Given the description of an element on the screen output the (x, y) to click on. 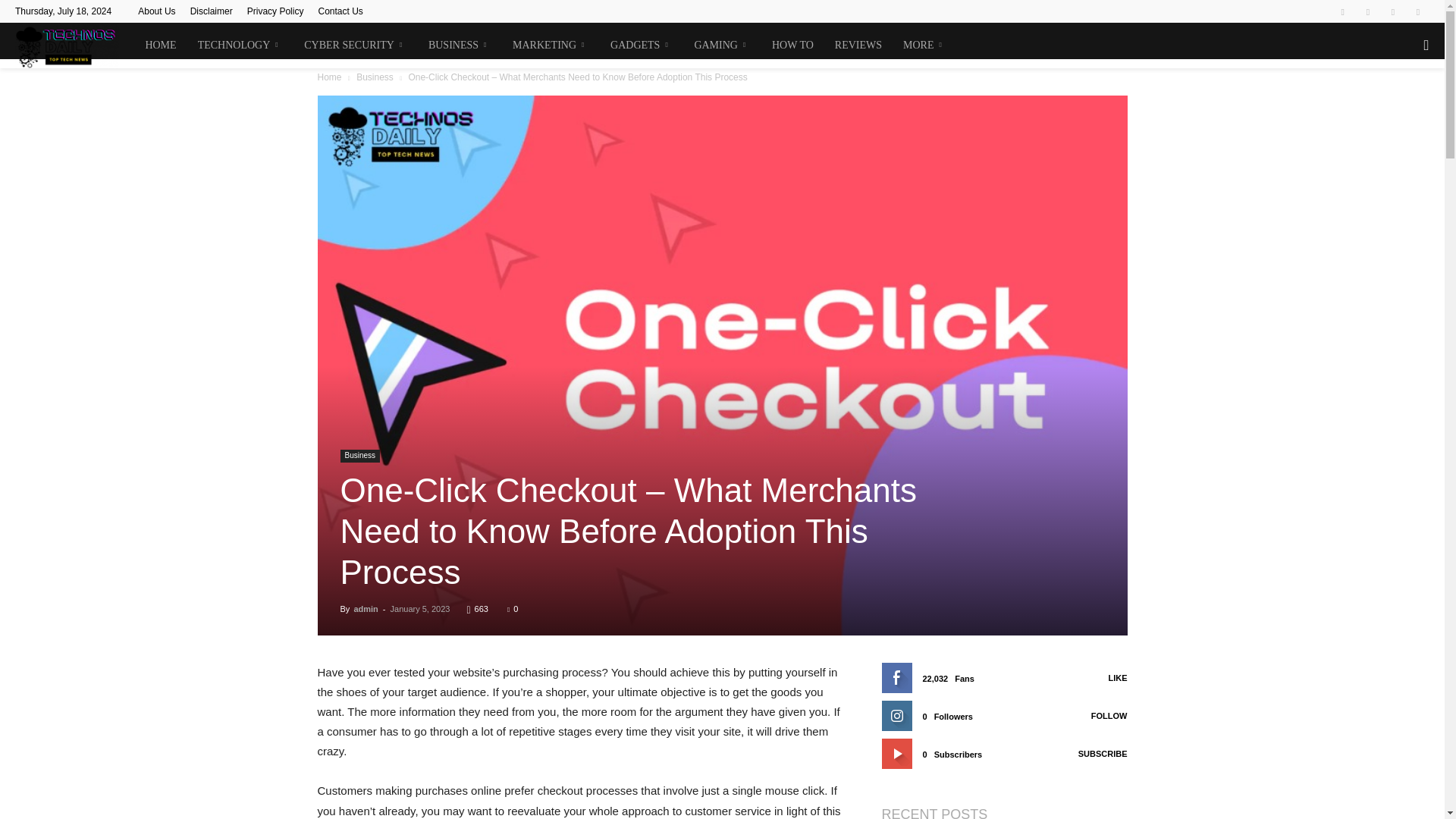
Facebook (1343, 11)
Linkedin (1367, 11)
Twitter (1417, 11)
Pinterest (1393, 11)
